Given the description of an element on the screen output the (x, y) to click on. 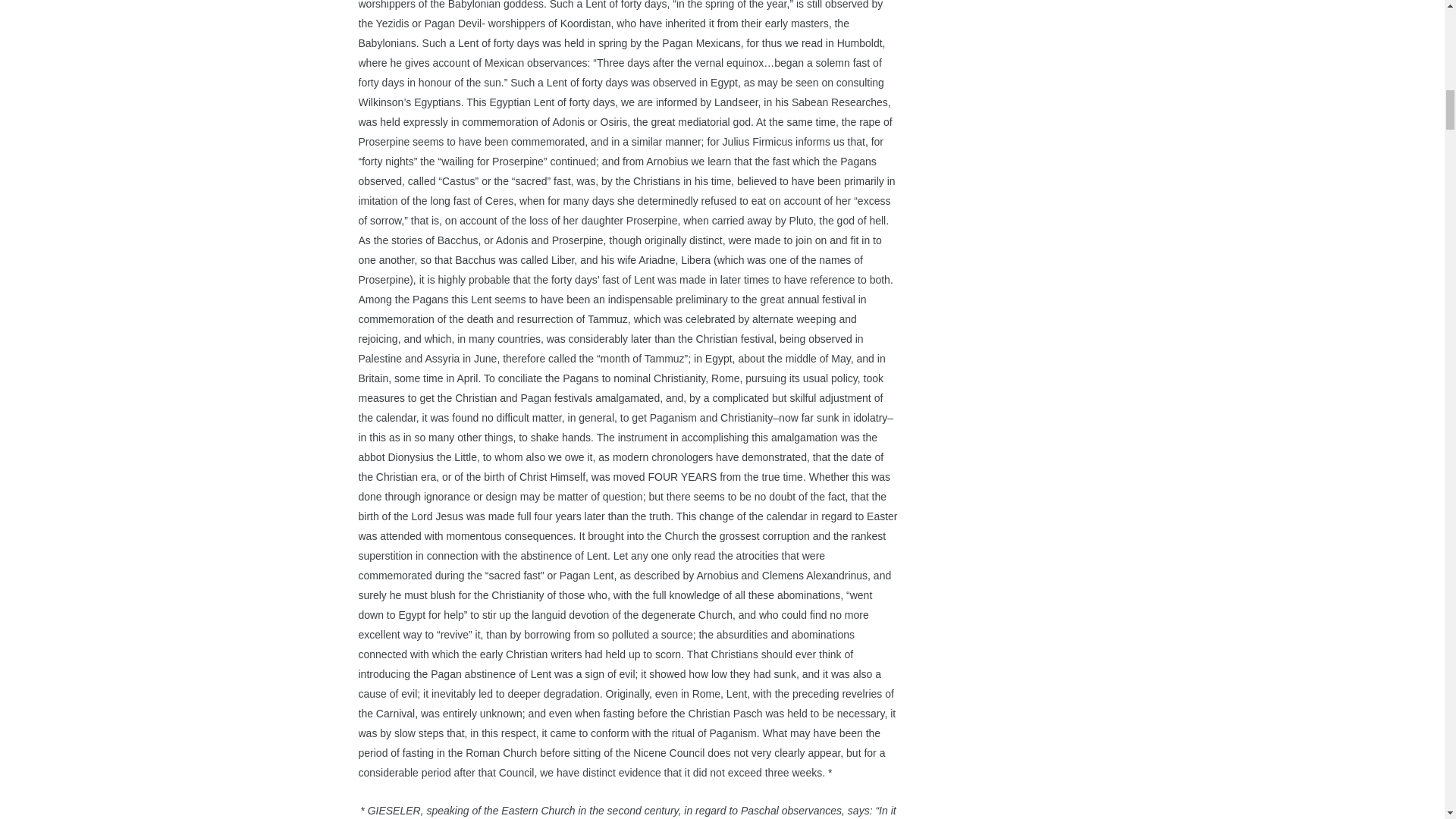
Page 94 (628, 809)
